Given the description of an element on the screen output the (x, y) to click on. 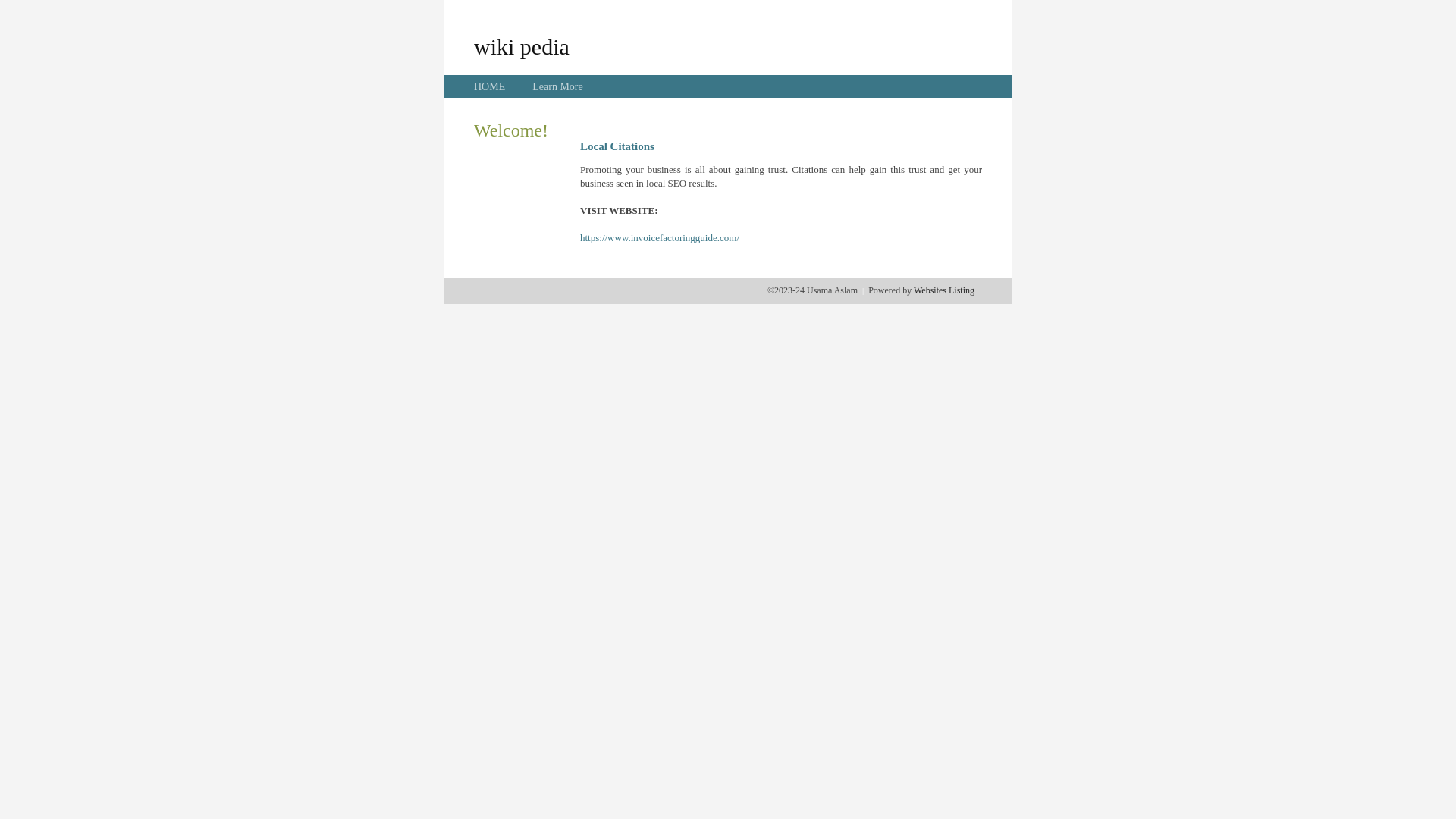
https://www.invoicefactoringguide.com/ Element type: text (659, 237)
wiki pedia Element type: text (521, 46)
Learn More Element type: text (557, 86)
HOME Element type: text (489, 86)
Websites Listing Element type: text (943, 290)
